Given the description of an element on the screen output the (x, y) to click on. 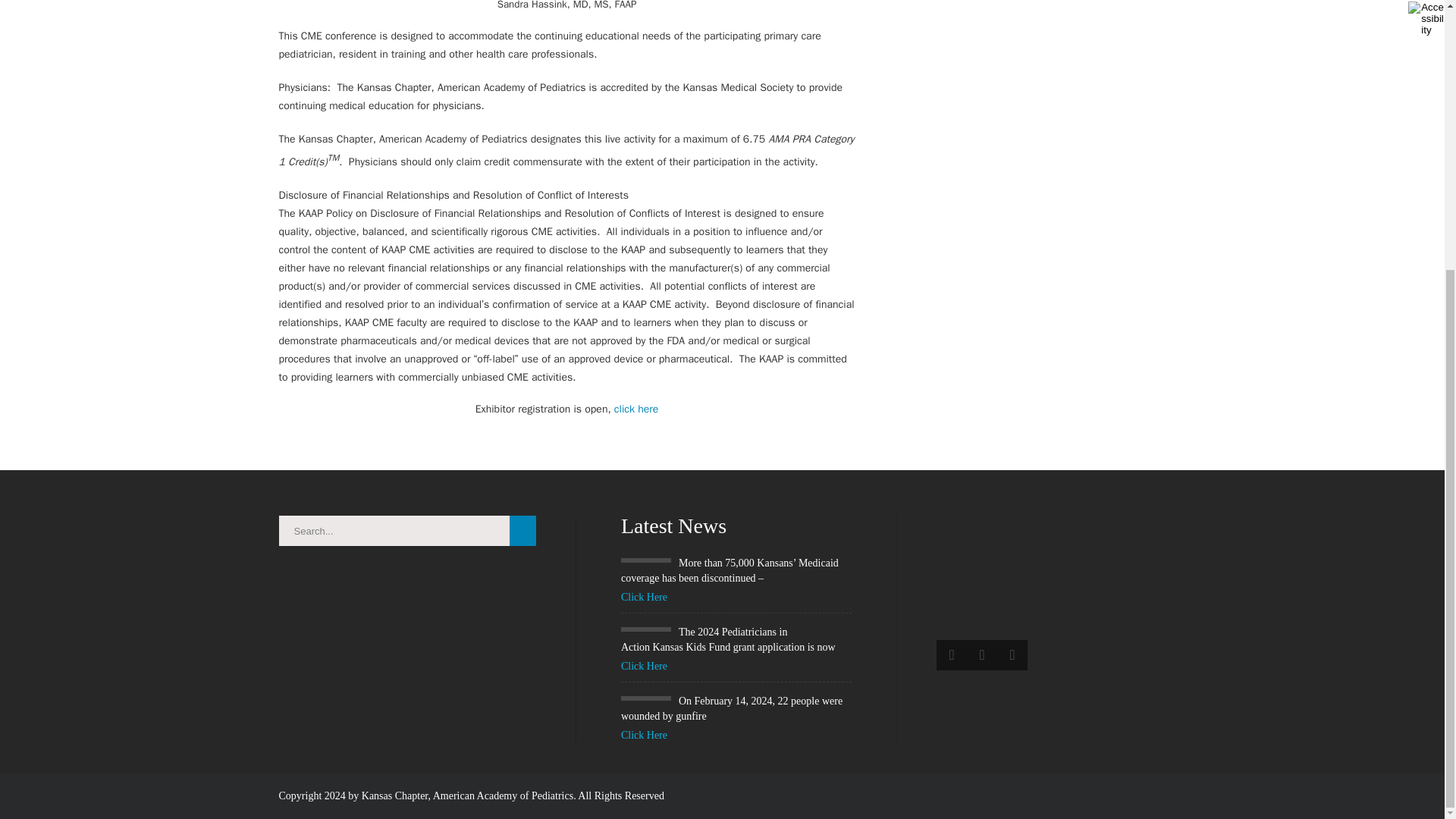
linkedin (1012, 654)
twitter (981, 654)
facebook (951, 654)
